Given the description of an element on the screen output the (x, y) to click on. 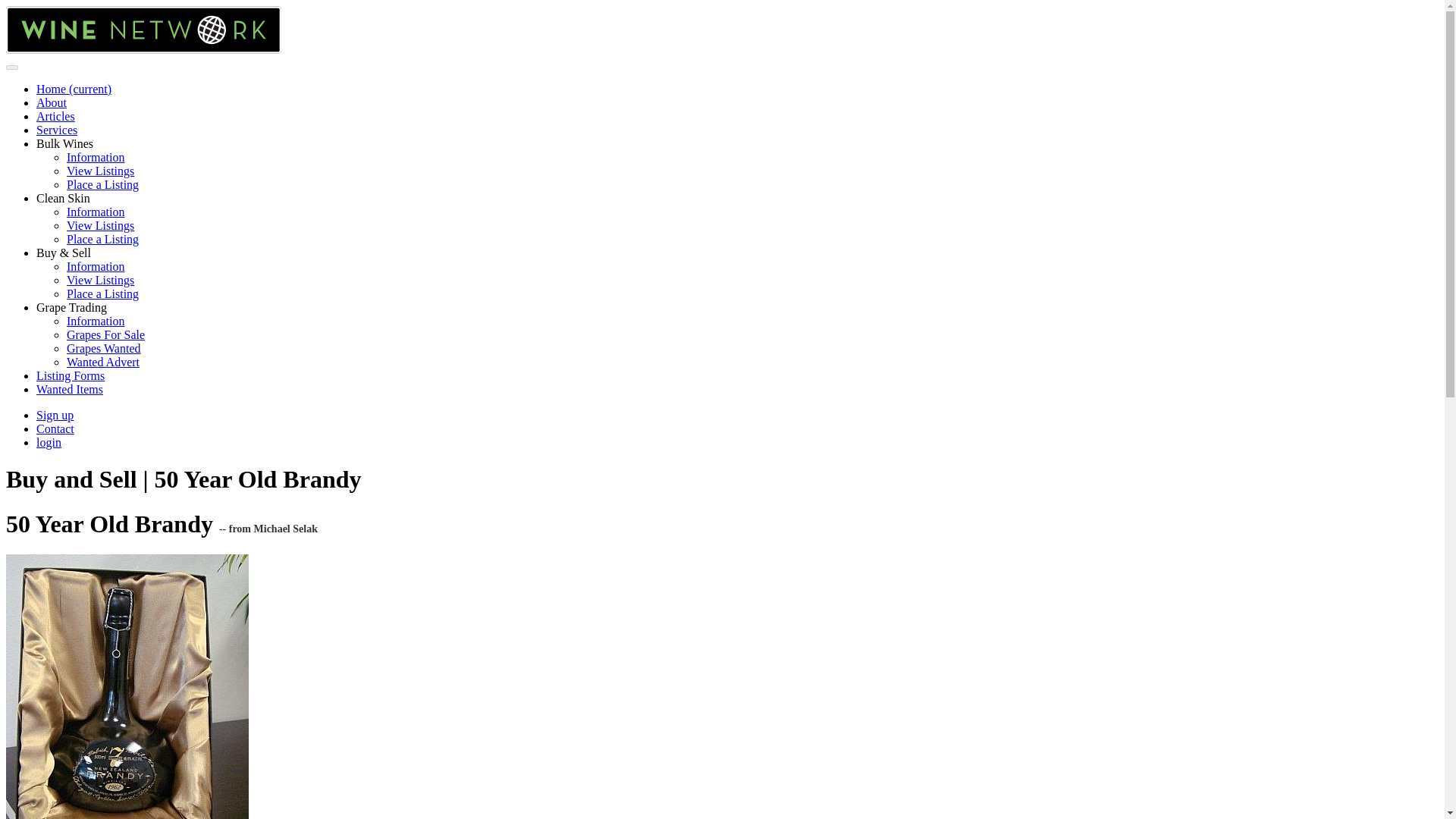
Bulk Wines (64, 143)
Wanted Items (69, 389)
Clean Skin (63, 197)
Sign up (55, 414)
Information (94, 320)
View Listings (99, 170)
Information (94, 211)
Articles (55, 115)
Place a Listing (102, 238)
Place a Listing (102, 184)
Grapes For Sale (105, 334)
Grape Trading (71, 307)
Contact (55, 428)
View Listings (99, 279)
Information (94, 156)
